Given the description of an element on the screen output the (x, y) to click on. 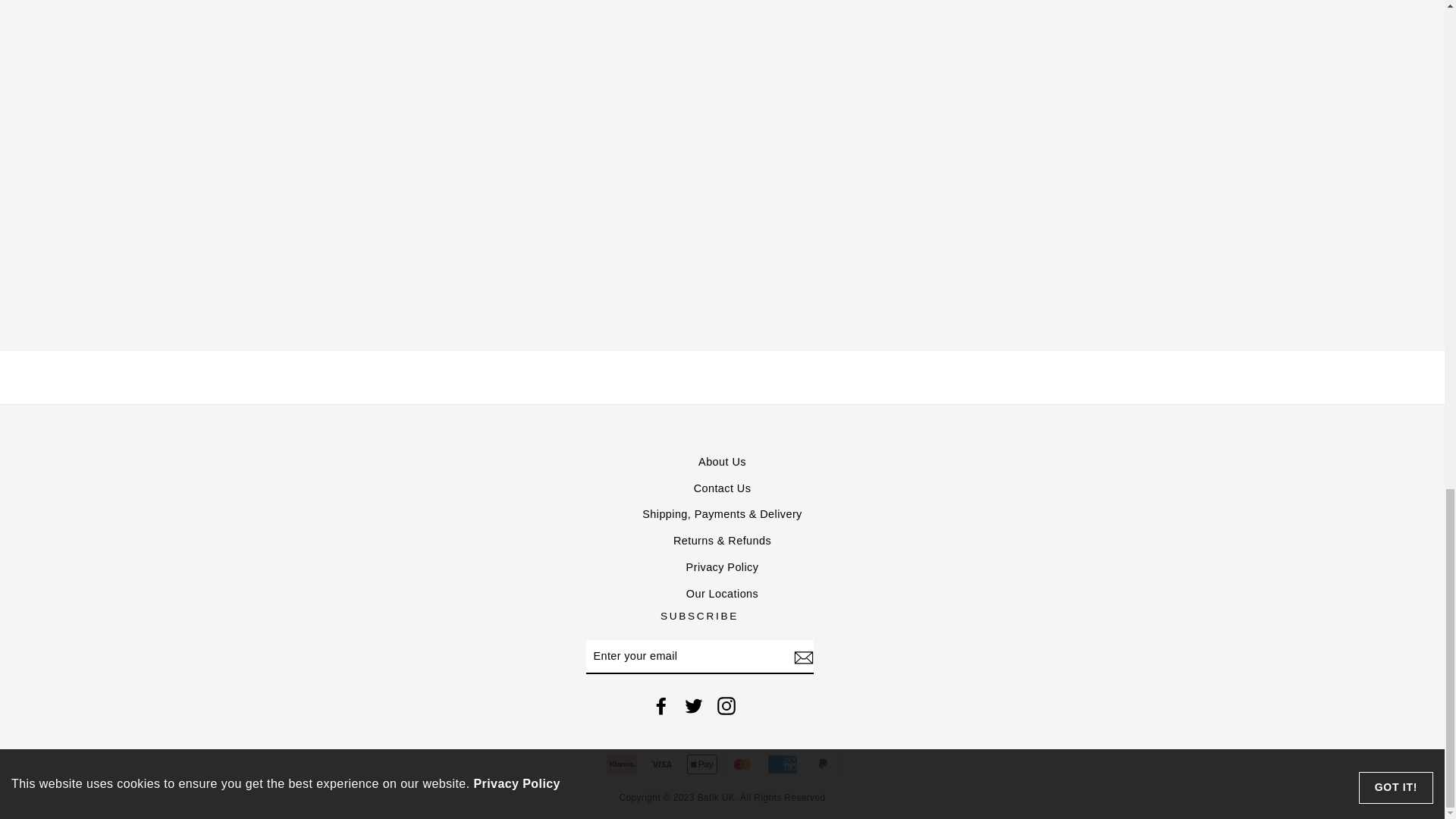
BATIK UK on Twitter (693, 705)
Apple Pay (702, 764)
BATIK UK on Facebook (660, 705)
Klarna (622, 764)
PayPal (823, 764)
American Express (782, 764)
Visa (661, 764)
BATIK UK on Instagram (726, 705)
Mastercard (741, 764)
